Given the description of an element on the screen output the (x, y) to click on. 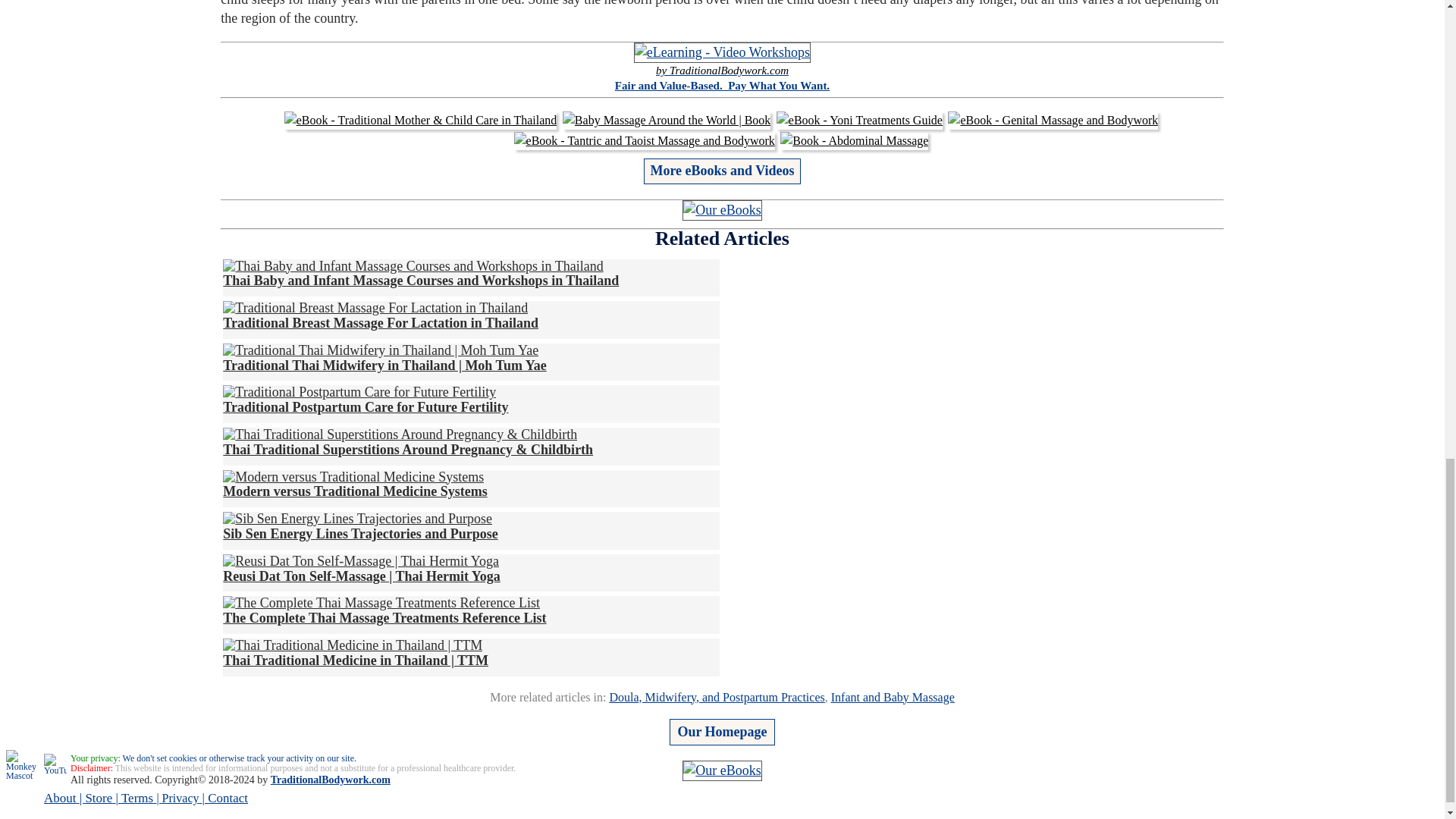
Book - Abdominal Massage (854, 140)
eLearning - Video Workshops (721, 52)
More eBooks and Videos (721, 170)
Traditional Breast Massage For Lactation in Thailand (380, 315)
eBook - Yoni Treatments Guide (859, 120)
Traditional Breast Massage For Lactation in Thailand (374, 308)
Traditional Breast Massage For Lactation in Thailand (380, 315)
